Given the description of an element on the screen output the (x, y) to click on. 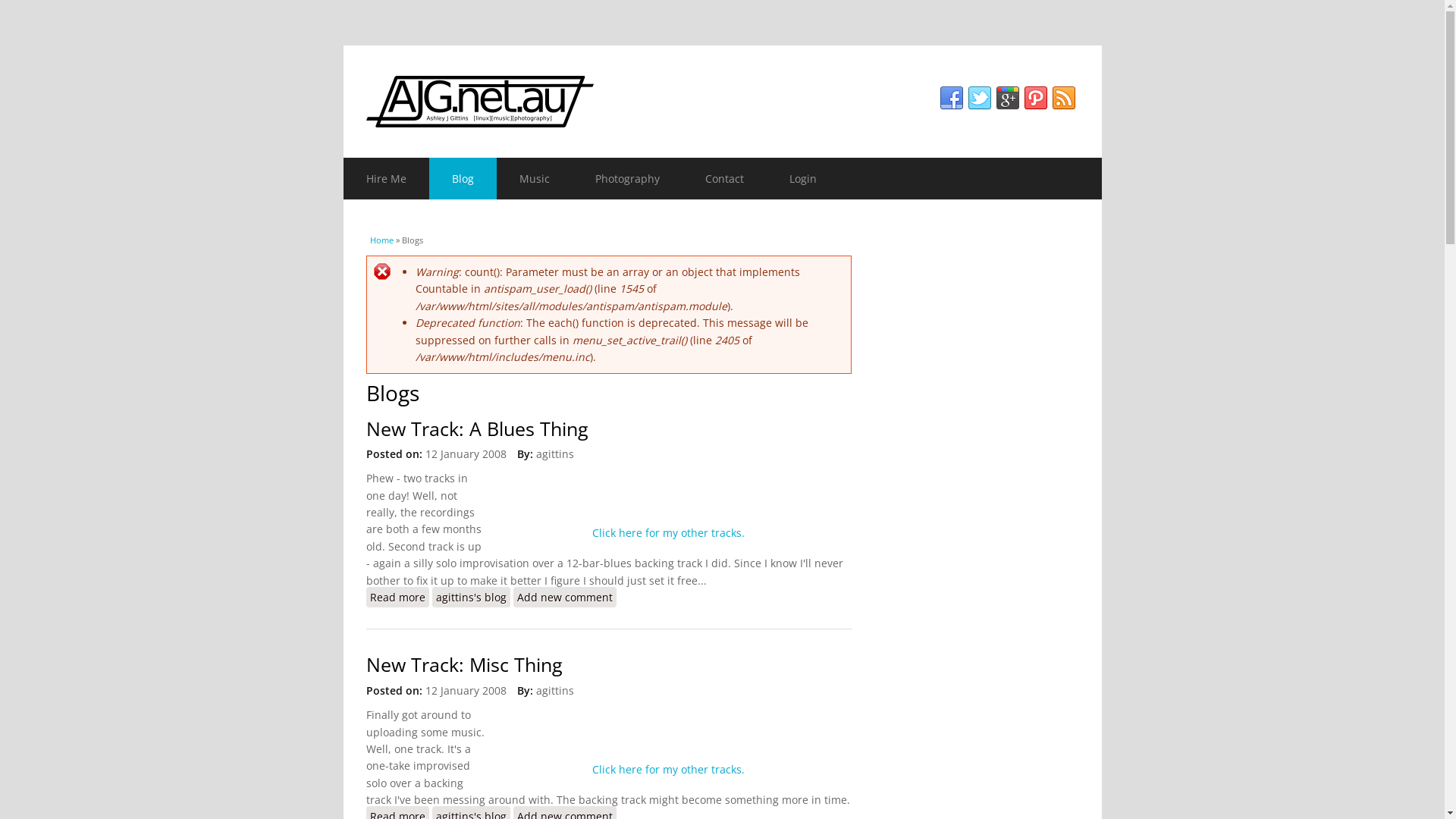
Click here for my other tracks. Element type: text (667, 769)
ajg.net.au in Google+ Element type: hover (1006, 98)
Read more
about New Track: A Blues Thing Element type: text (396, 596)
Hire Me Element type: text (385, 178)
New Track: A Blues Thing Element type: text (476, 428)
Home Element type: hover (721, 101)
ajg.net.au in RSS Element type: hover (1063, 98)
Click here for my other tracks. Element type: text (667, 532)
Login Element type: text (801, 178)
Music Element type: text (533, 178)
ajg.net.au in Pinterest Element type: hover (1035, 98)
Advertisement Element type: hover (983, 456)
Home Element type: text (381, 239)
New Track: Misc Thing Element type: text (463, 664)
Contact Element type: text (724, 178)
Photography Element type: text (626, 178)
Blog Element type: text (462, 178)
ajg.net.au in Twitter Element type: hover (979, 98)
Add new comment Element type: text (563, 596)
agittins's blog Element type: text (471, 596)
ajg.net.au in Facebook Element type: hover (950, 98)
